Given the description of an element on the screen output the (x, y) to click on. 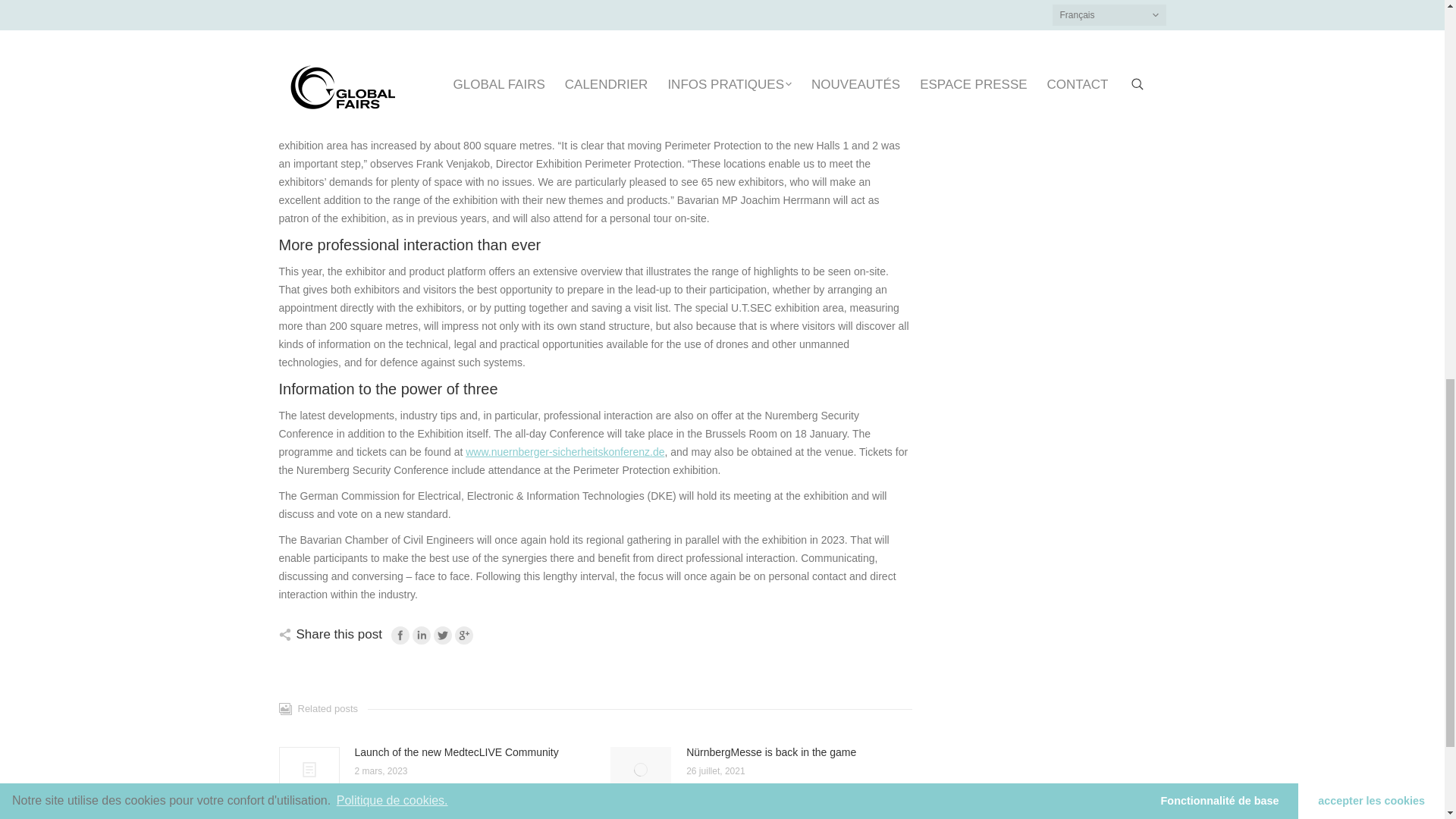
Facebook (400, 635)
Twitter (442, 635)
LinkedIn (421, 635)
